Given the description of an element on the screen output the (x, y) to click on. 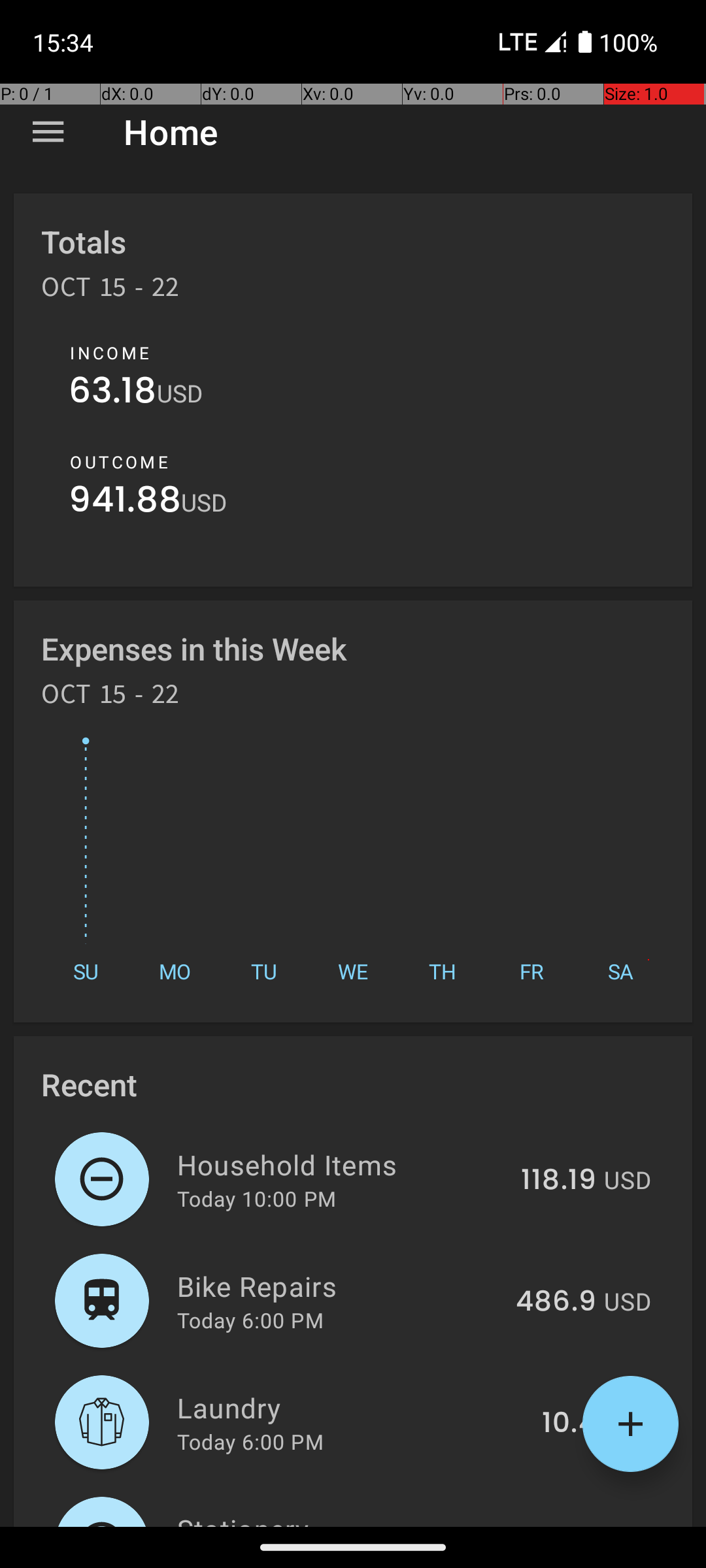
63.18 Element type: android.widget.TextView (112, 393)
941.88 Element type: android.widget.TextView (124, 502)
Household Items Element type: android.widget.TextView (341, 1164)
118.19 Element type: android.widget.TextView (558, 1180)
Bike Repairs Element type: android.widget.TextView (338, 1285)
486.9 Element type: android.widget.TextView (555, 1301)
10.4 Element type: android.widget.TextView (568, 1423)
326.39 Element type: android.widget.TextView (548, 1524)
